Given the description of an element on the screen output the (x, y) to click on. 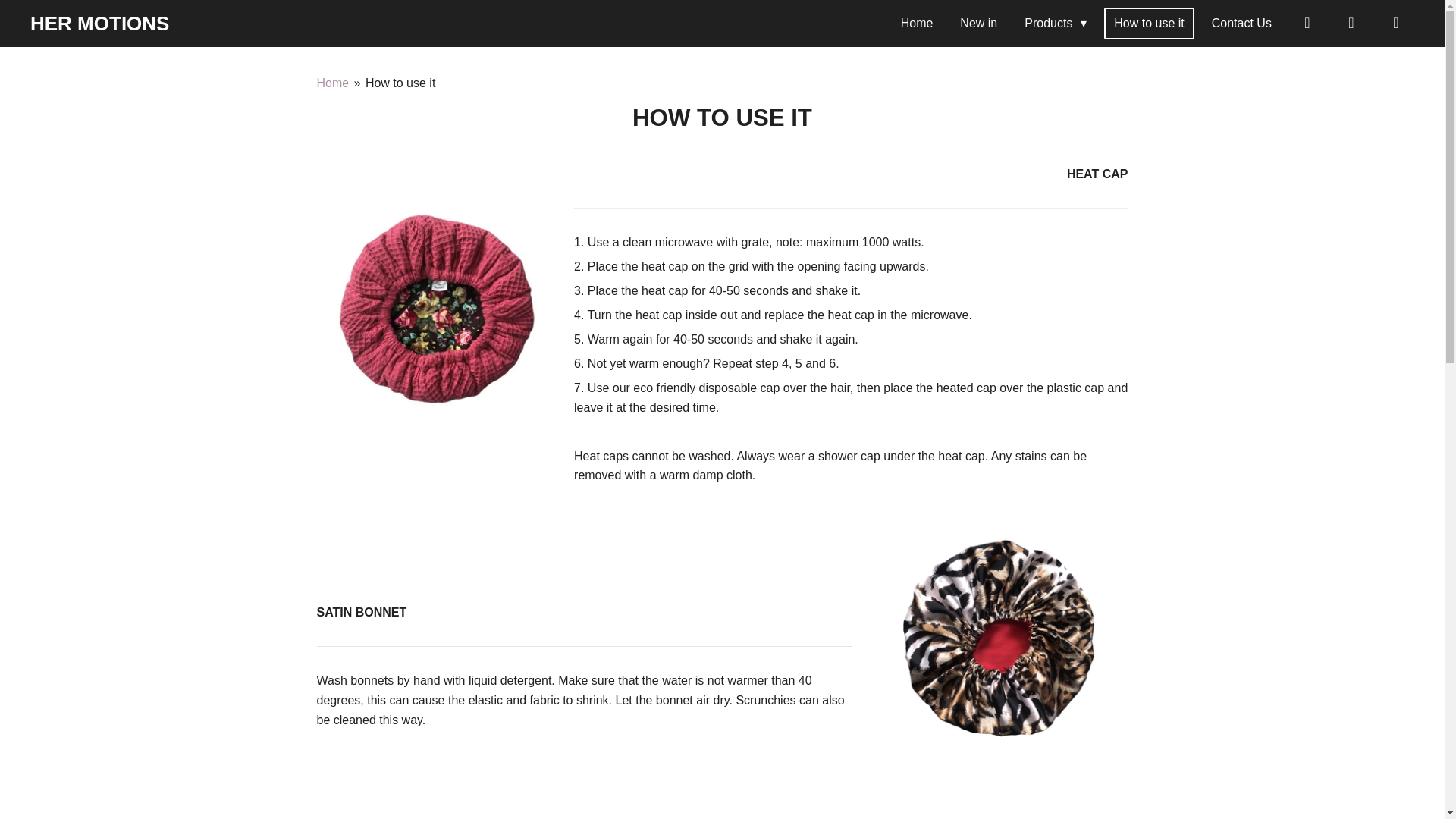
HER MOTIONS (99, 23)
Home (333, 82)
Contact Us (1241, 23)
Home (917, 23)
Search (1351, 23)
Account (1306, 23)
How to use it (400, 82)
View cart (1395, 23)
How to use it (1148, 23)
New in (978, 23)
Products (1055, 23)
